Given the description of an element on the screen output the (x, y) to click on. 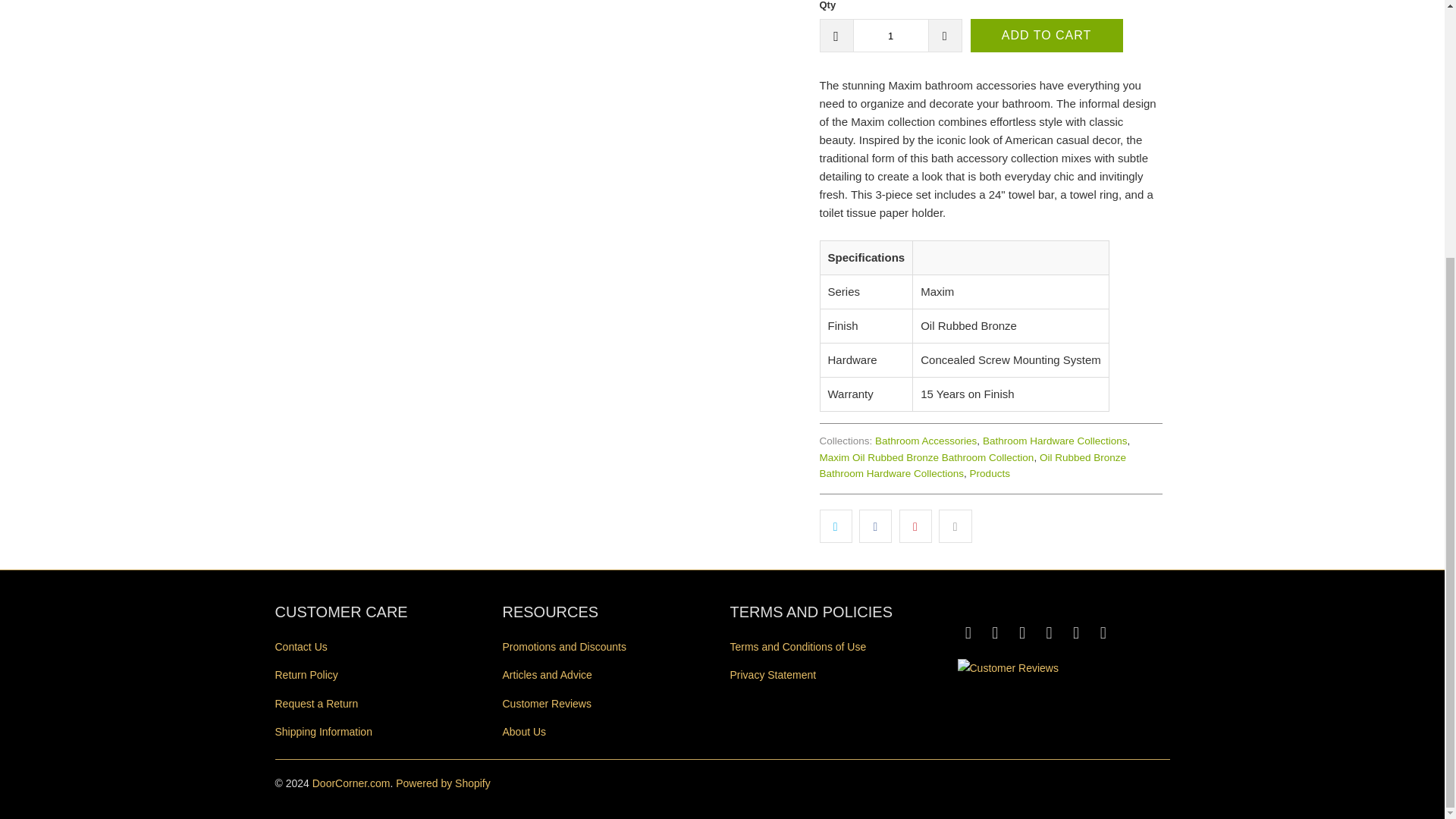
Bathroom Hardware Collections (1054, 440)
1 (889, 35)
Products (989, 473)
Bathroom Hardware Collections (1054, 440)
Share this on Pinterest (915, 525)
Email this to a friend (955, 525)
Bathroom Accessories (925, 440)
DoorCorner.com on Facebook (967, 633)
Share this on Facebook (875, 525)
Share this on Twitter (834, 525)
